Given the description of an element on the screen output the (x, y) to click on. 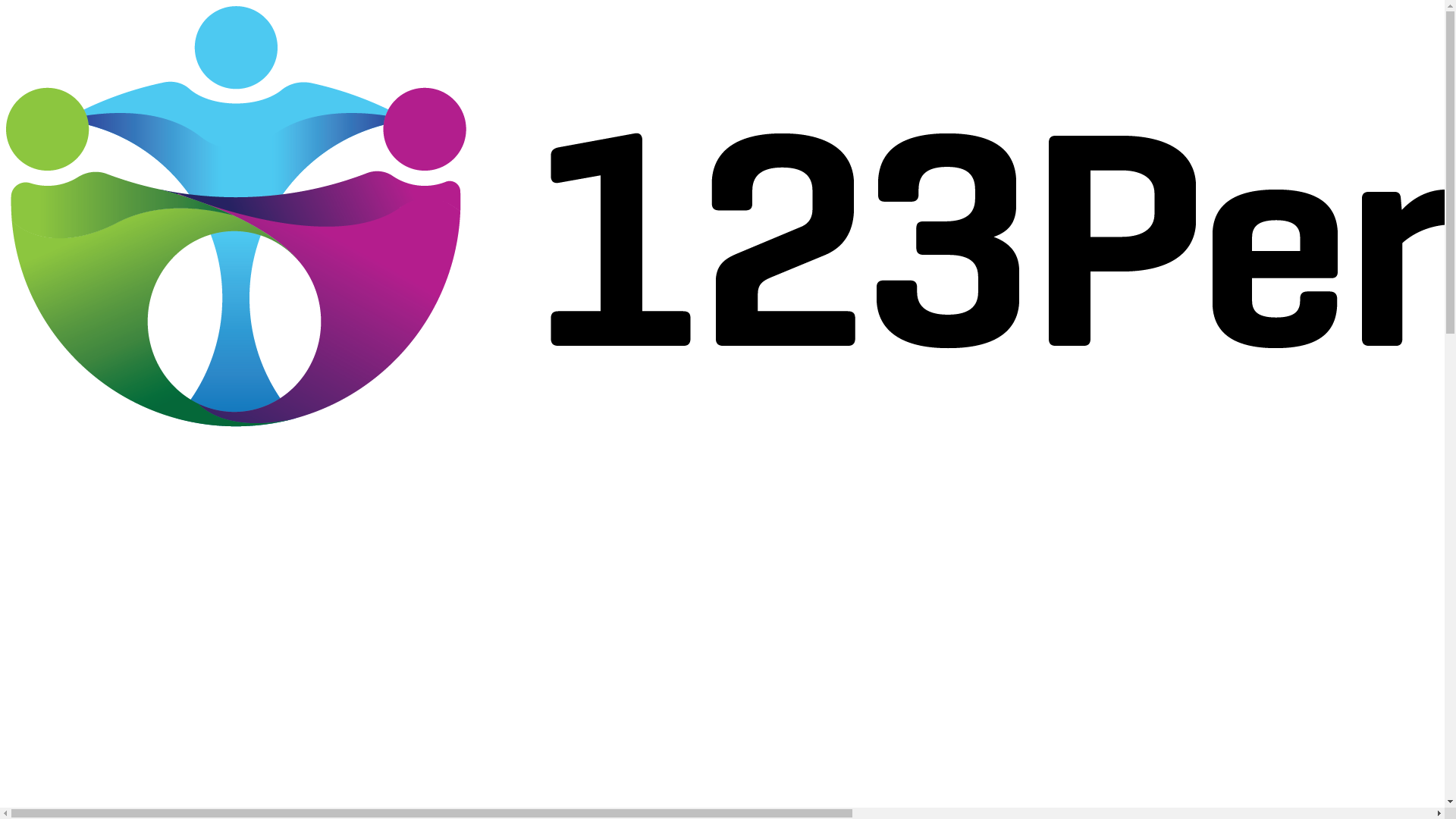
About Us Element type: text (54, 569)
Testimonials Element type: text (61, 535)
Why Us Element type: text (51, 637)
Corporate Testimonials Element type: text (82, 705)
Insights Element type: text (52, 603)
Home Element type: text (49, 501)
Industries Element type: text (56, 671)
Your Results Element type: text (61, 740)
Contact Us Element type: text (57, 808)
Speciality Element type: text (56, 774)
